Given the description of an element on the screen output the (x, y) to click on. 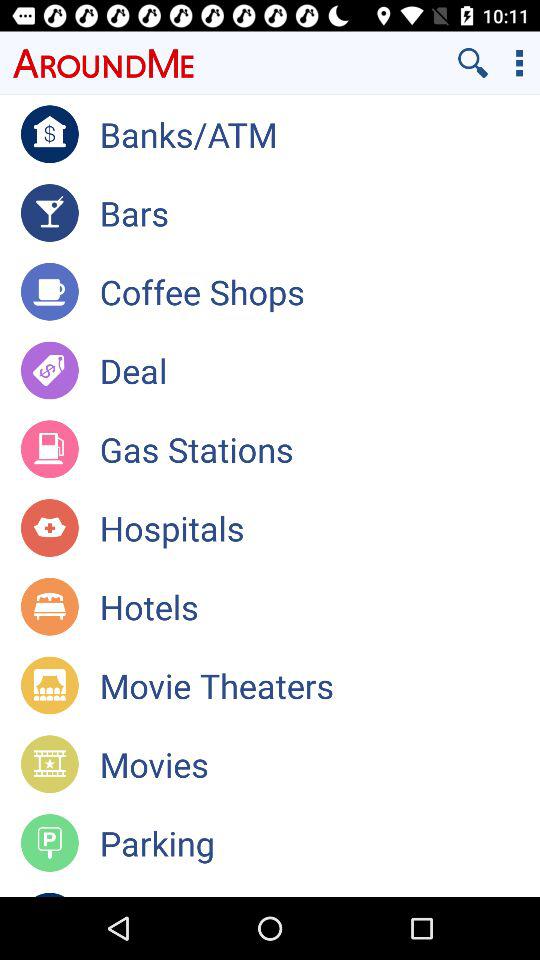
scroll until the movies (319, 764)
